Given the description of an element on the screen output the (x, y) to click on. 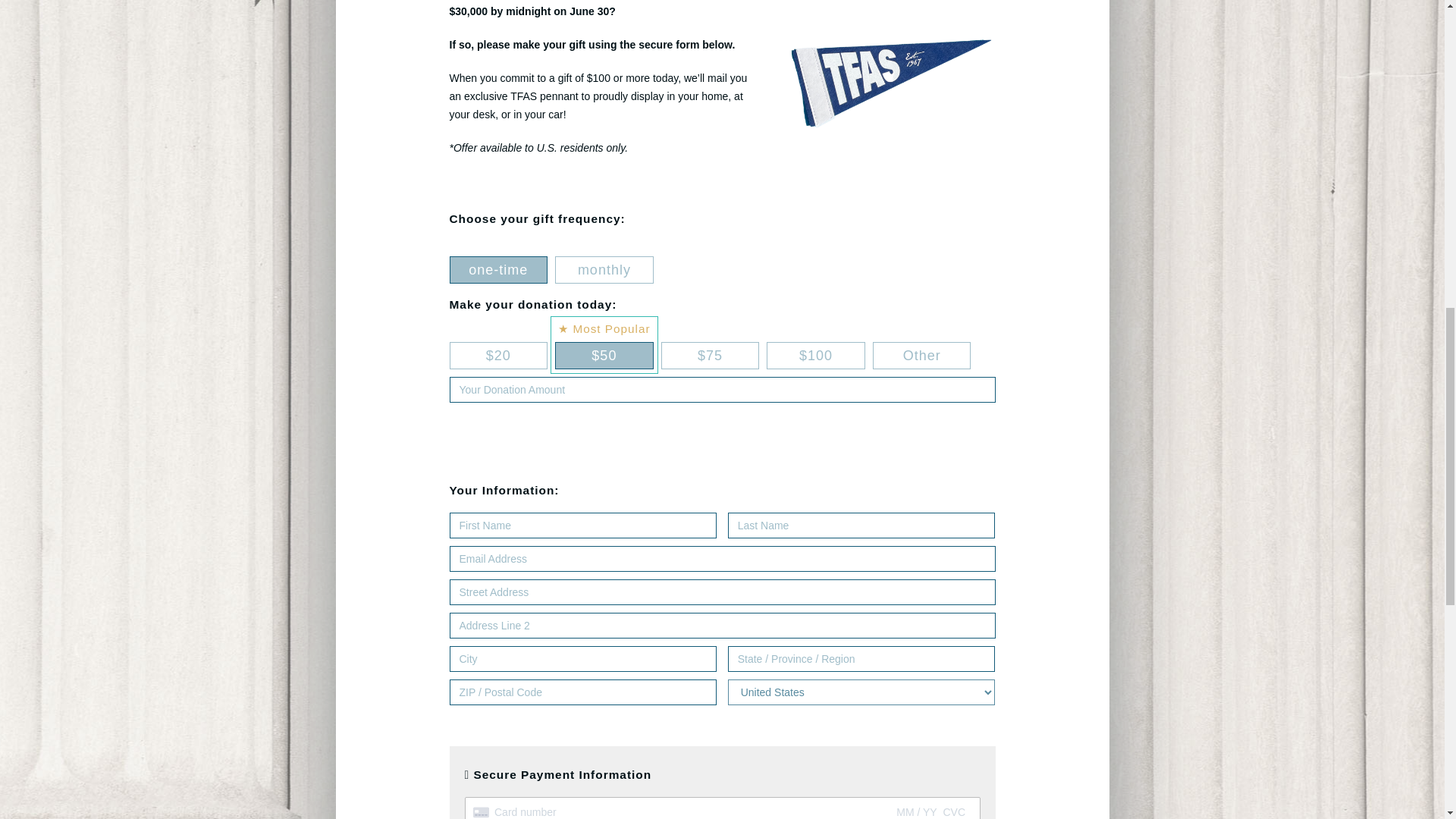
Secure card payment input frame (722, 812)
